Given the description of an element on the screen output the (x, y) to click on. 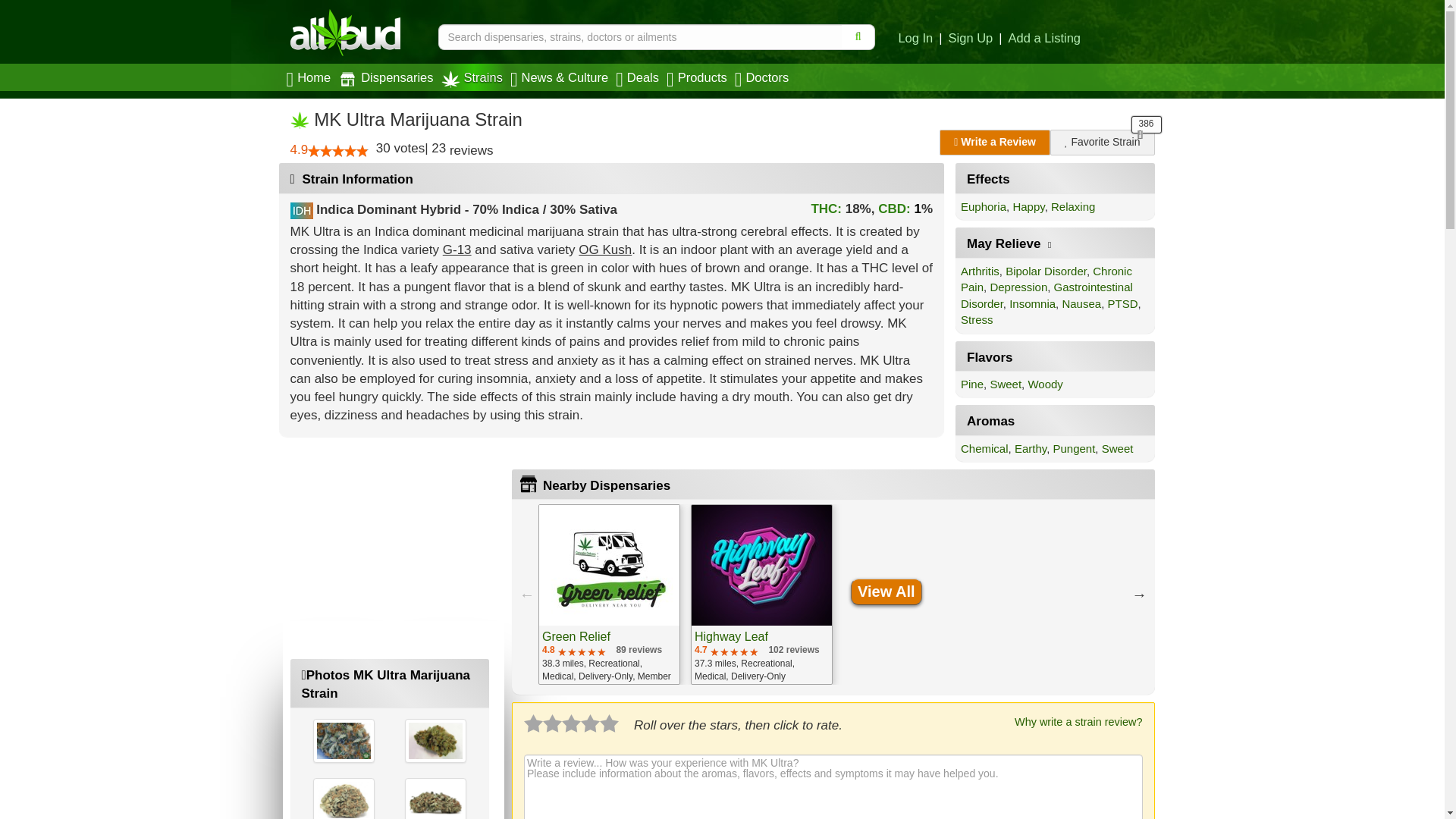
Favorite Strain (1101, 142)
Bipolar Disorder (1046, 270)
Login (915, 39)
Add a Listing (1044, 39)
Home (310, 76)
Log In (915, 39)
Euphoria (983, 205)
Products (698, 76)
Sign Up (970, 39)
Dispensaries (386, 76)
Relaxing (1072, 205)
Doctors (764, 76)
Indica Dominant Hybrid (388, 209)
Deals (638, 76)
Happy (1027, 205)
